Given the description of an element on the screen output the (x, y) to click on. 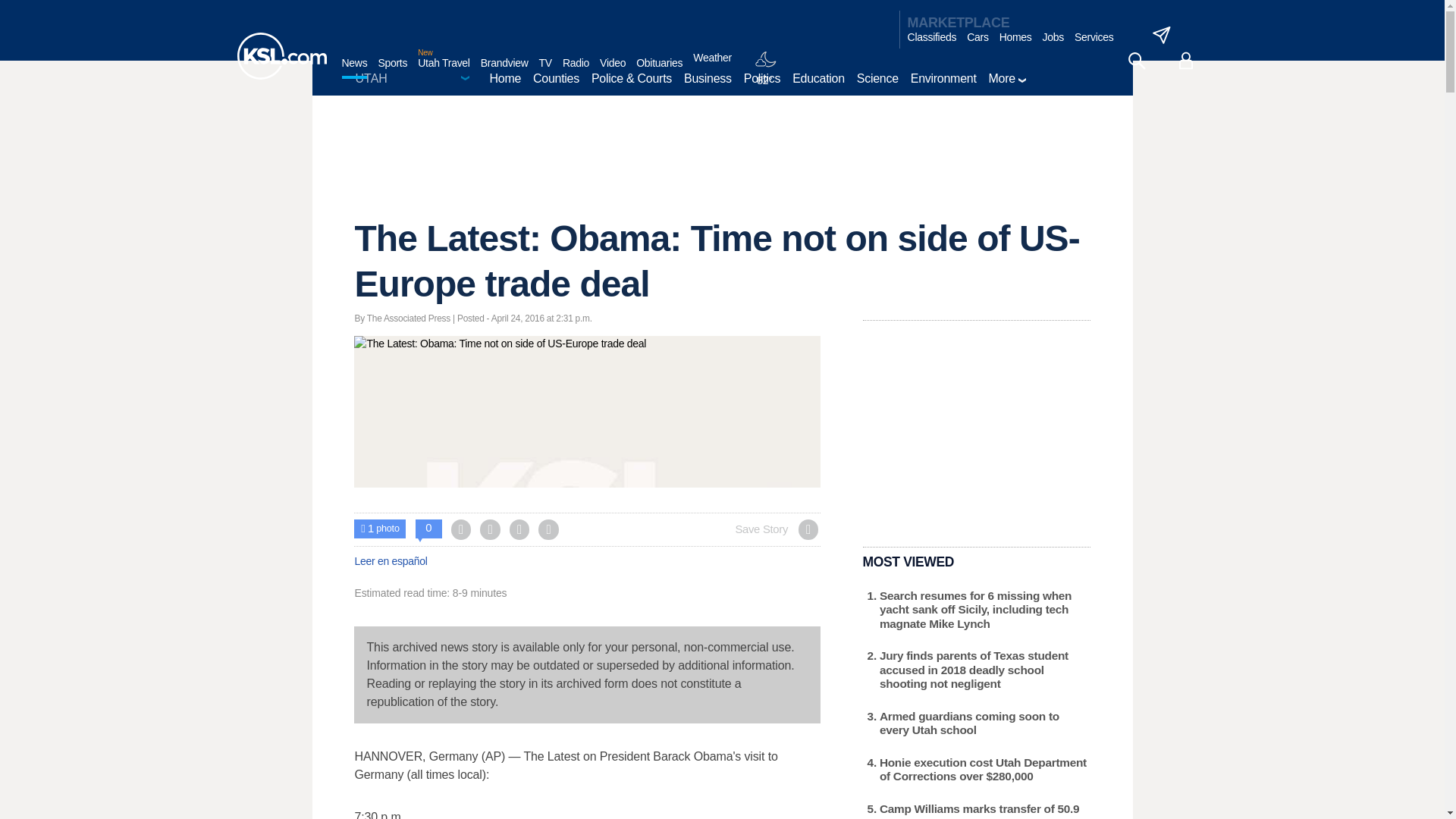
search (1135, 60)
KSL homepage (280, 55)
account - logged out (1185, 60)
